Given the description of an element on the screen output the (x, y) to click on. 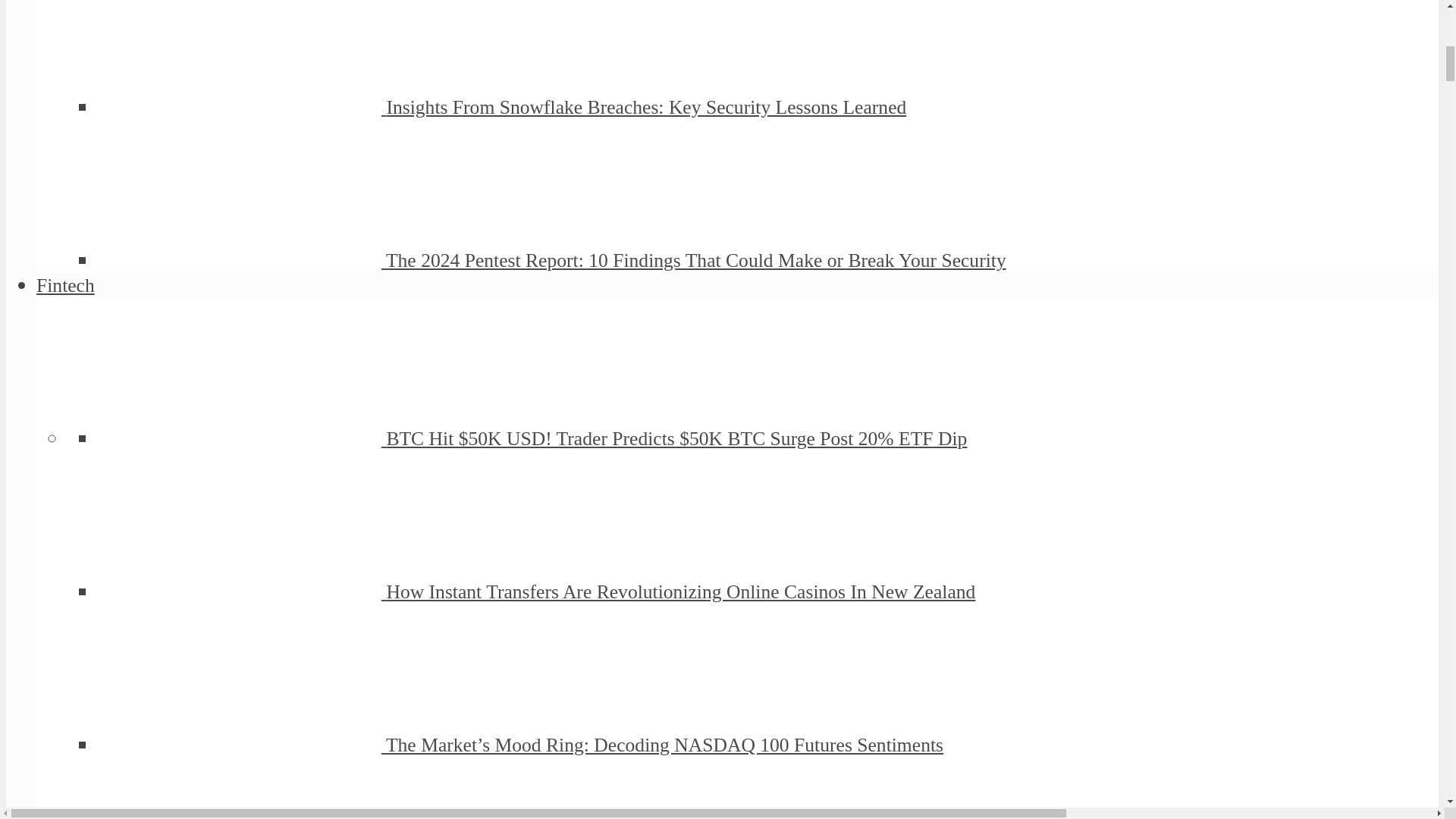
Fintech (65, 285)
